Given the description of an element on the screen output the (x, y) to click on. 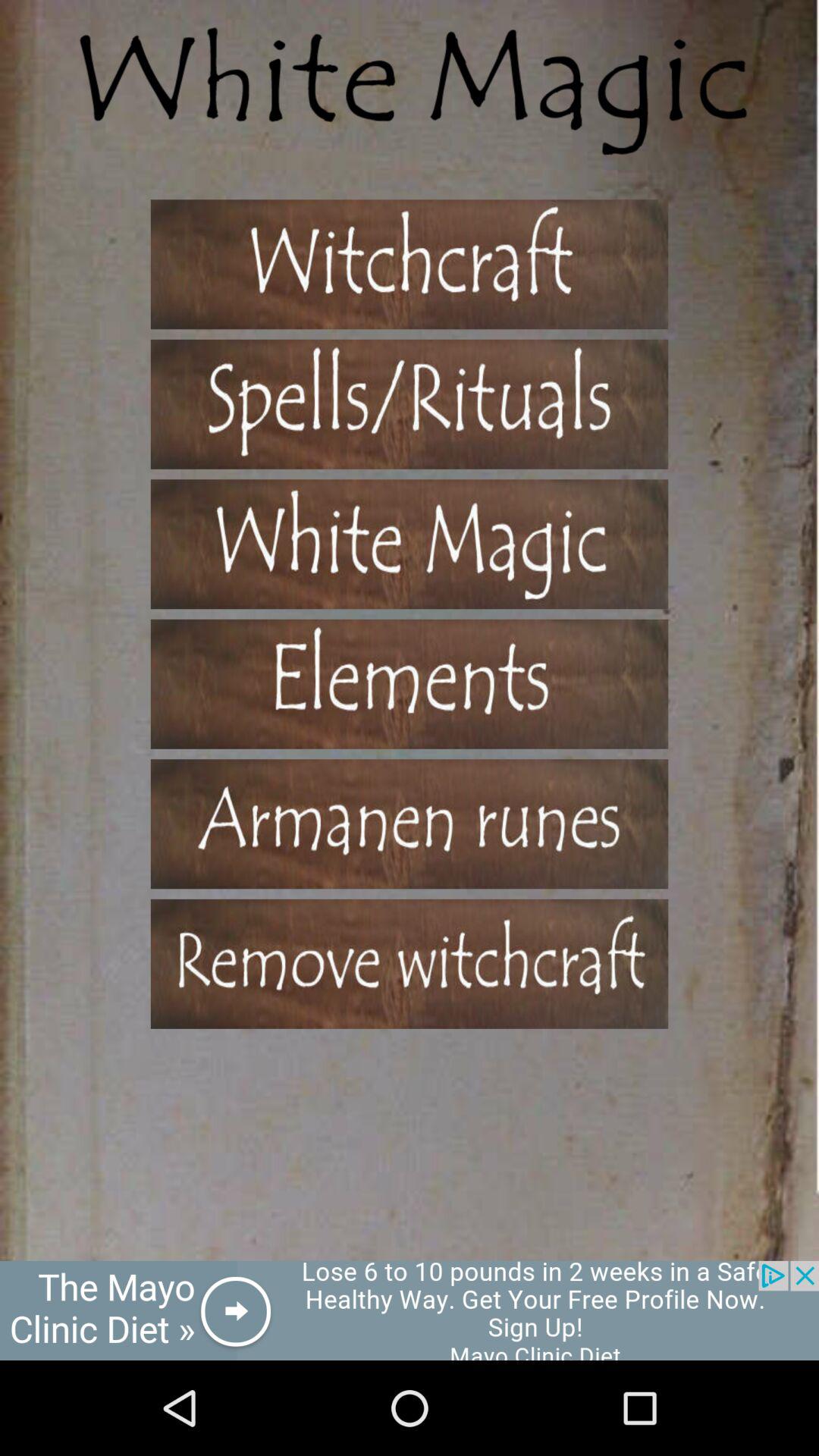
spells rituals (409, 404)
